Given the description of an element on the screen output the (x, y) to click on. 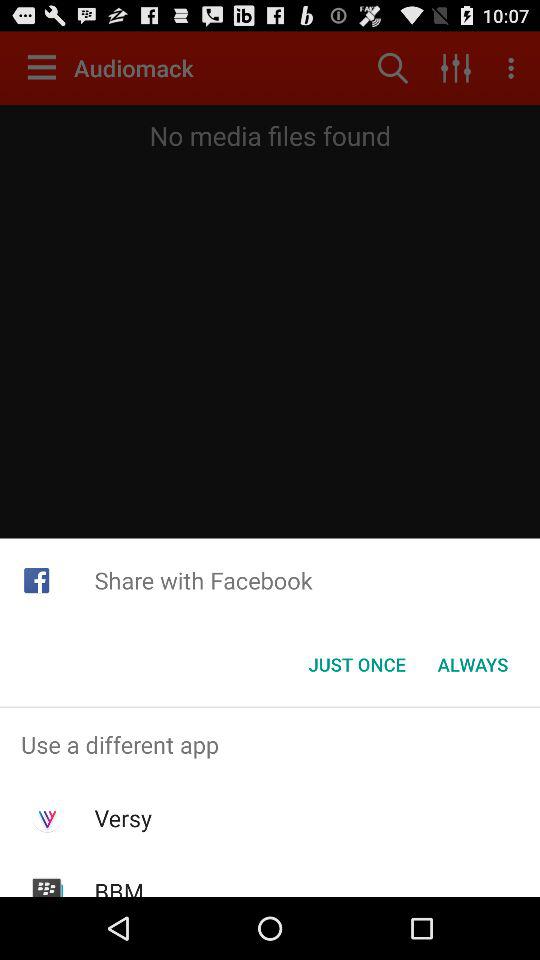
select the just once button (356, 664)
